Given the description of an element on the screen output the (x, y) to click on. 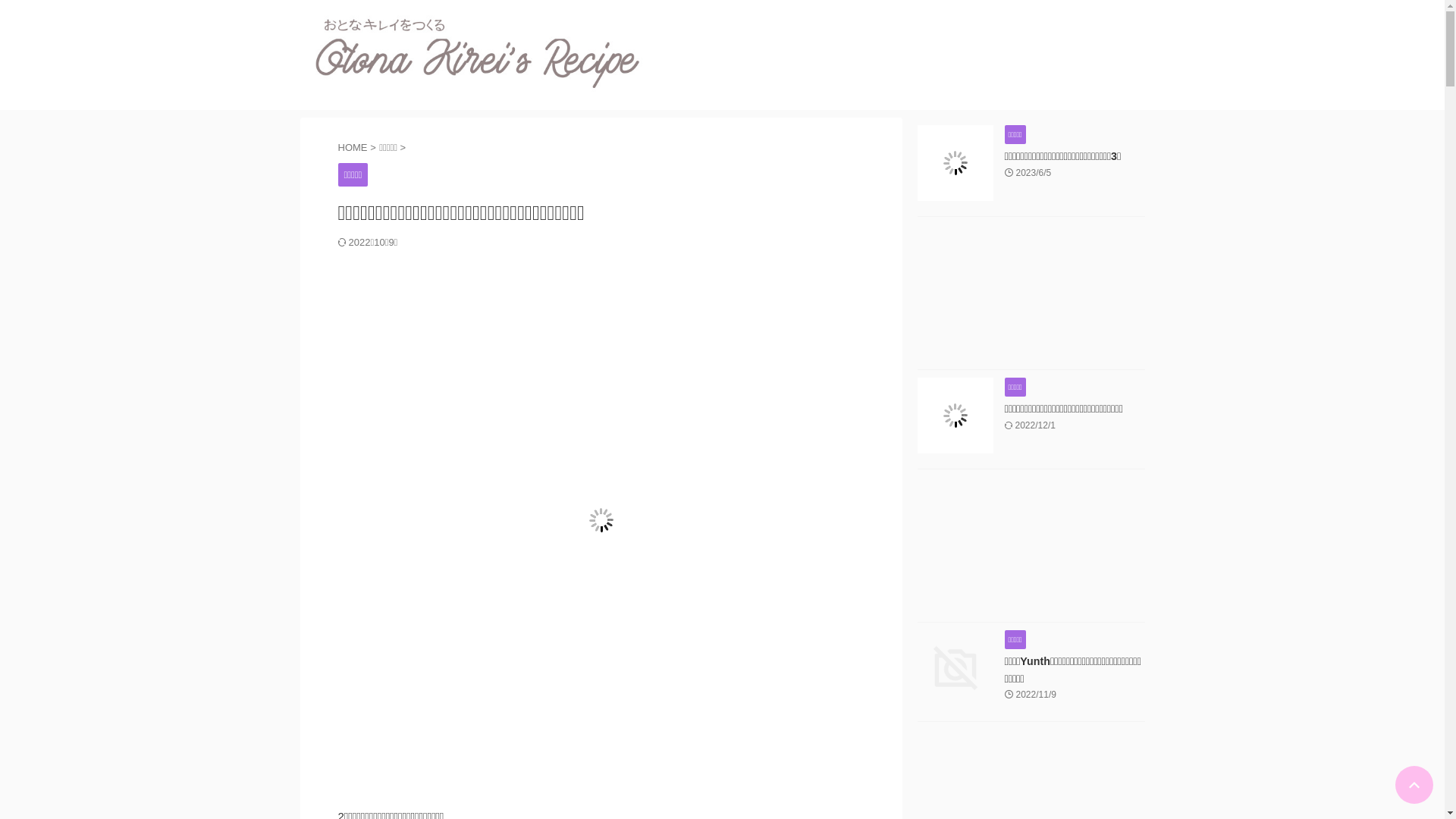
no image Element type: hover (955, 668)
Advertisement Element type: hover (1031, 296)
Advertisement Element type: hover (1031, 549)
HOME Element type: text (354, 147)
